Given the description of an element on the screen output the (x, y) to click on. 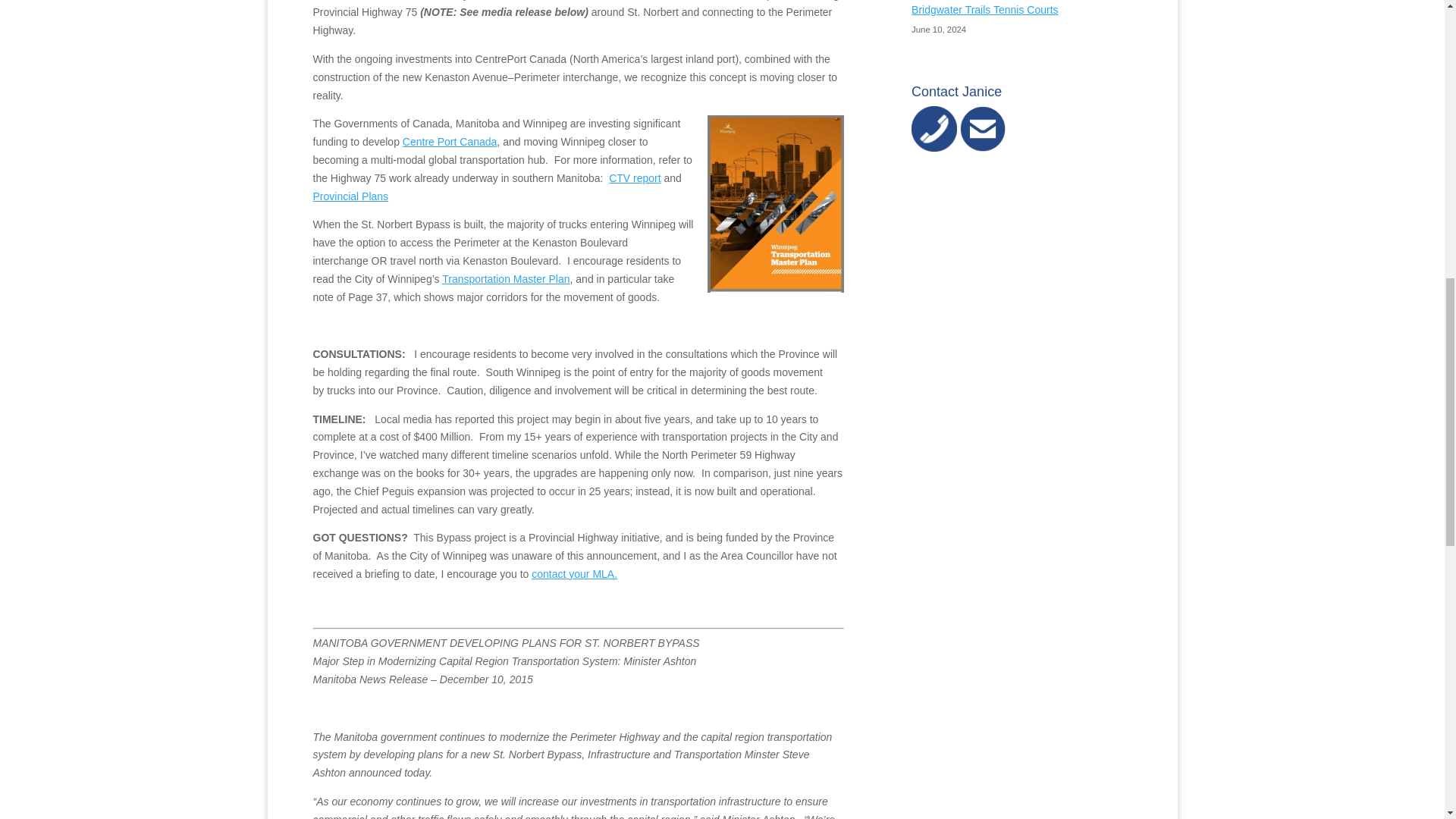
Centre Port Canada (450, 141)
